Given the description of an element on the screen output the (x, y) to click on. 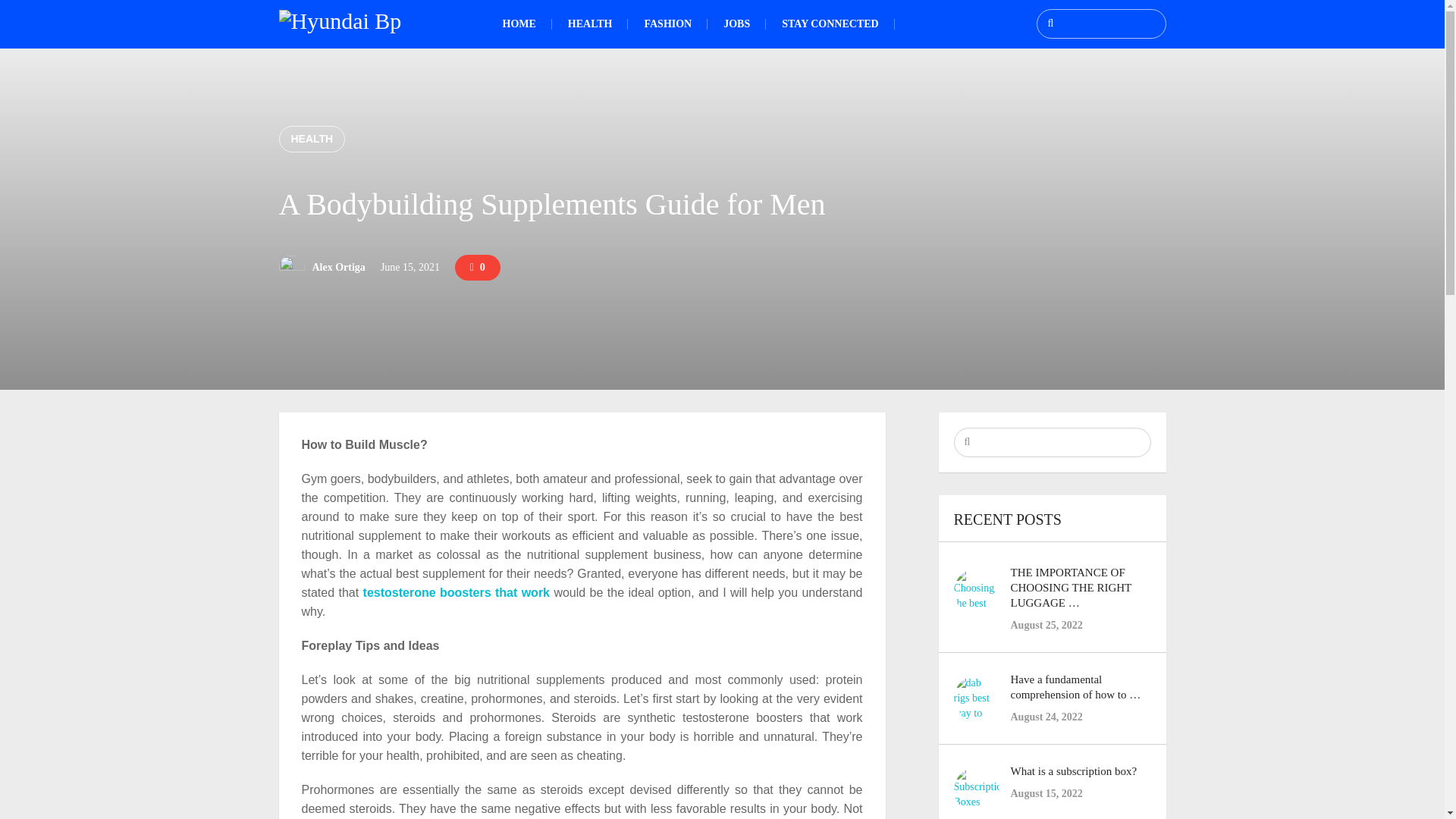
HEALTH (589, 24)
0 (477, 267)
HOME (518, 24)
HEALTH (312, 139)
STAY CONNECTED (829, 24)
testosterone boosters that work (456, 592)
What is a subscription box? (1073, 770)
FASHION (667, 24)
View all posts in Health (312, 139)
Alex Ortiga (339, 266)
JOBS (736, 24)
Posts by Alex Ortiga (339, 266)
What is a subscription box? (1073, 770)
THE IMPORTANCE OF CHOOSING THE RIGHT LUGGAGE BRAND (1070, 587)
